Given the description of an element on the screen output the (x, y) to click on. 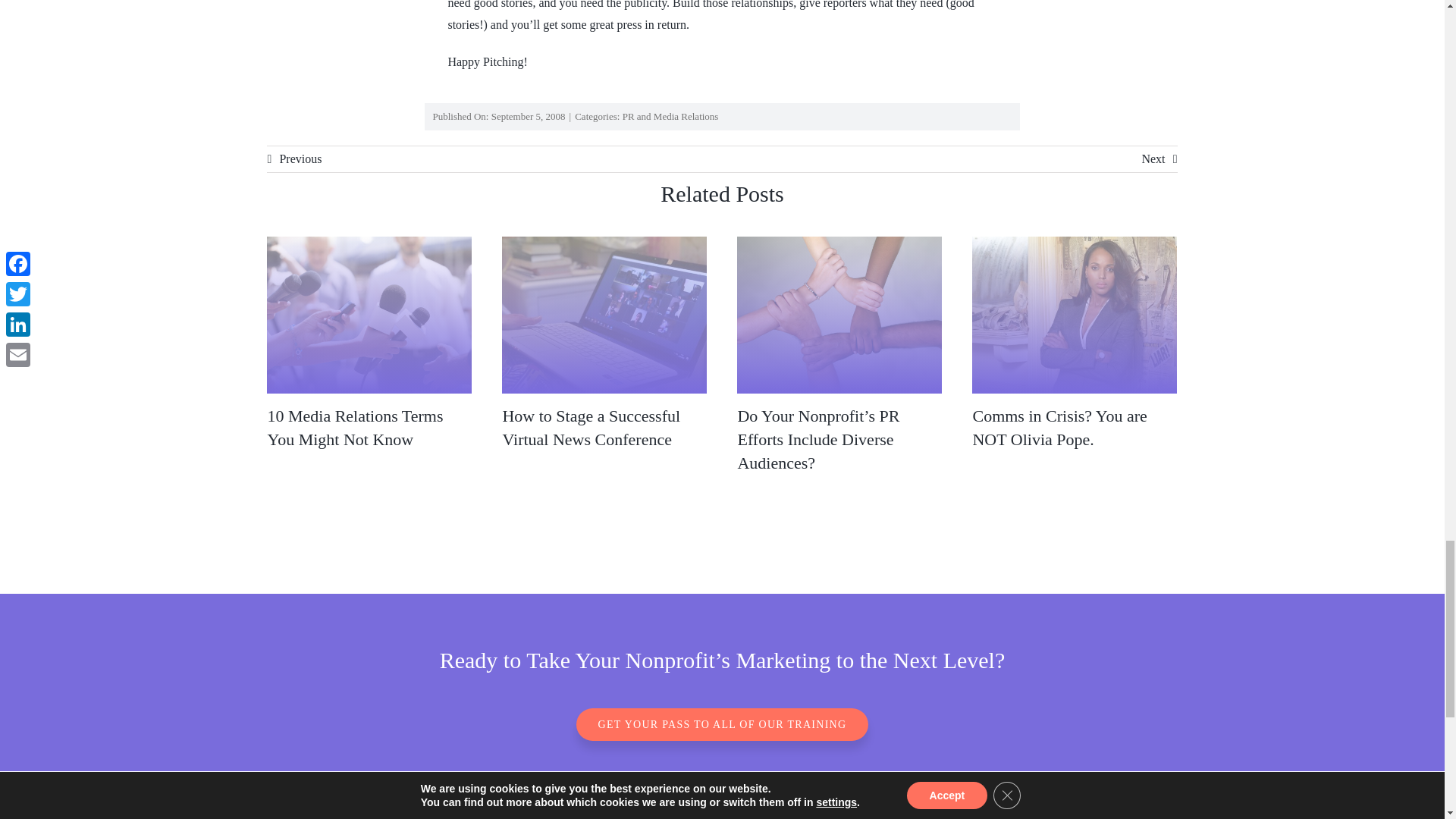
How to Stage a Successful Virtual News Conference (590, 427)
10 Media Relations Terms You Might Not Know (354, 427)
Comms in Crisis? You are NOT Olivia Pope. (1059, 427)
